Given the description of an element on the screen output the (x, y) to click on. 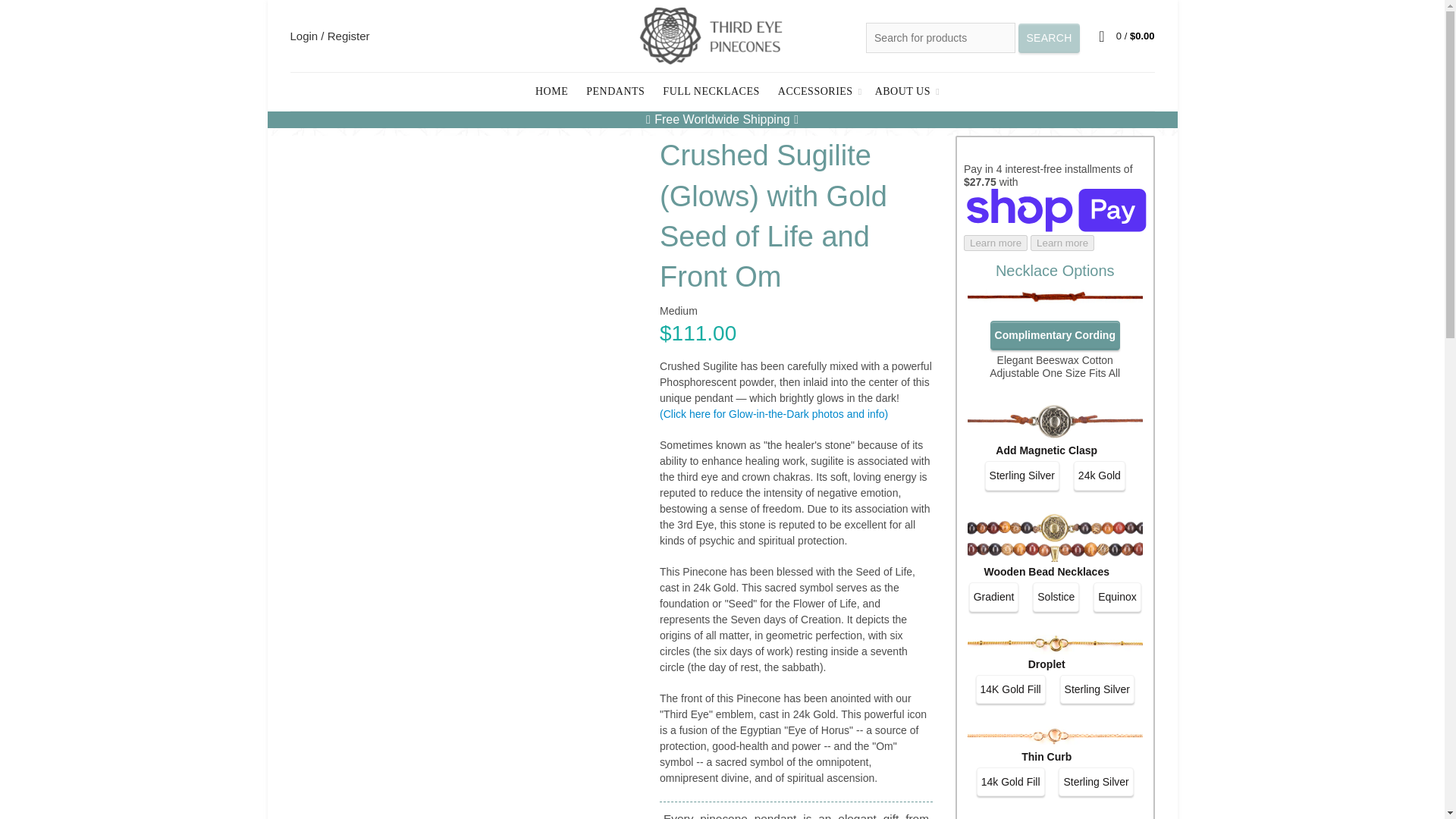
PENDANTS (614, 91)
HOME (551, 91)
FULL NECKLACES (710, 91)
SEARCH (1048, 37)
